Given the description of an element on the screen output the (x, y) to click on. 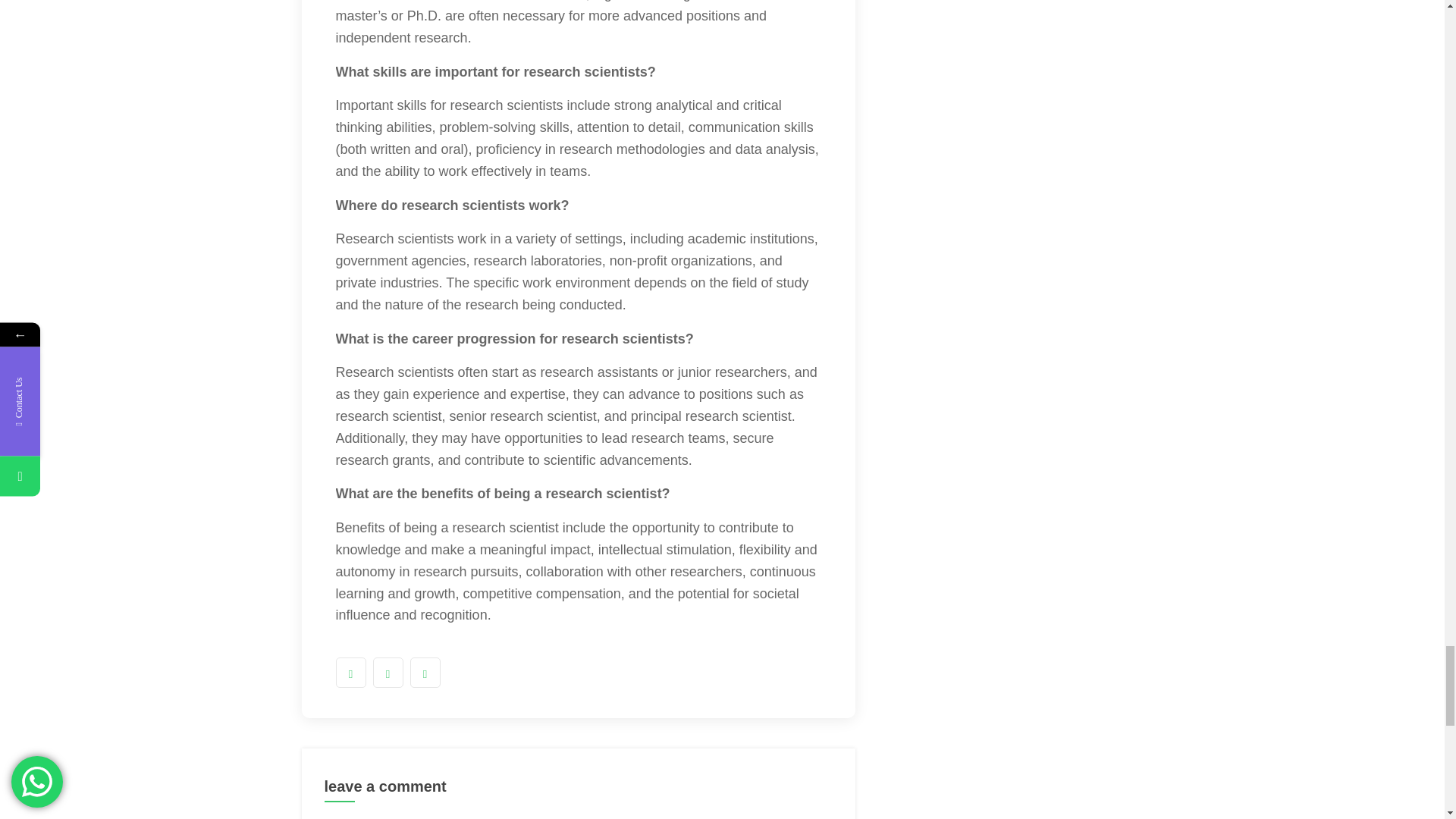
Twitter (387, 672)
Instagram (424, 672)
Facebook (349, 672)
